Given the description of an element on the screen output the (x, y) to click on. 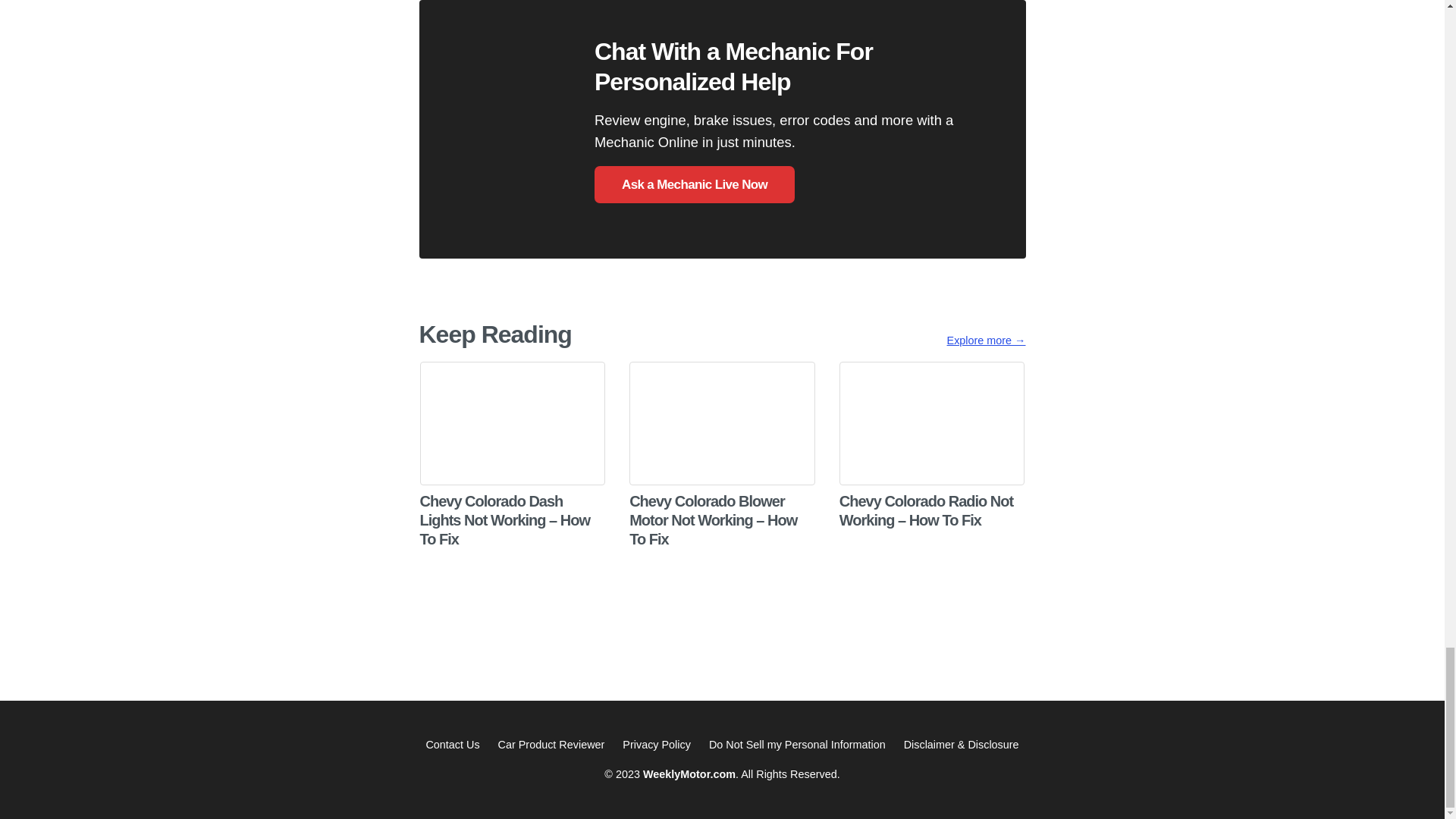
Do Not Sell my Personal Information (797, 744)
WeeklyMotor.com (689, 774)
Privacy Policy (656, 744)
Ask a Mechanic Live Now (694, 184)
Contact Us (452, 744)
Car Product Reviewer (551, 744)
